Given the description of an element on the screen output the (x, y) to click on. 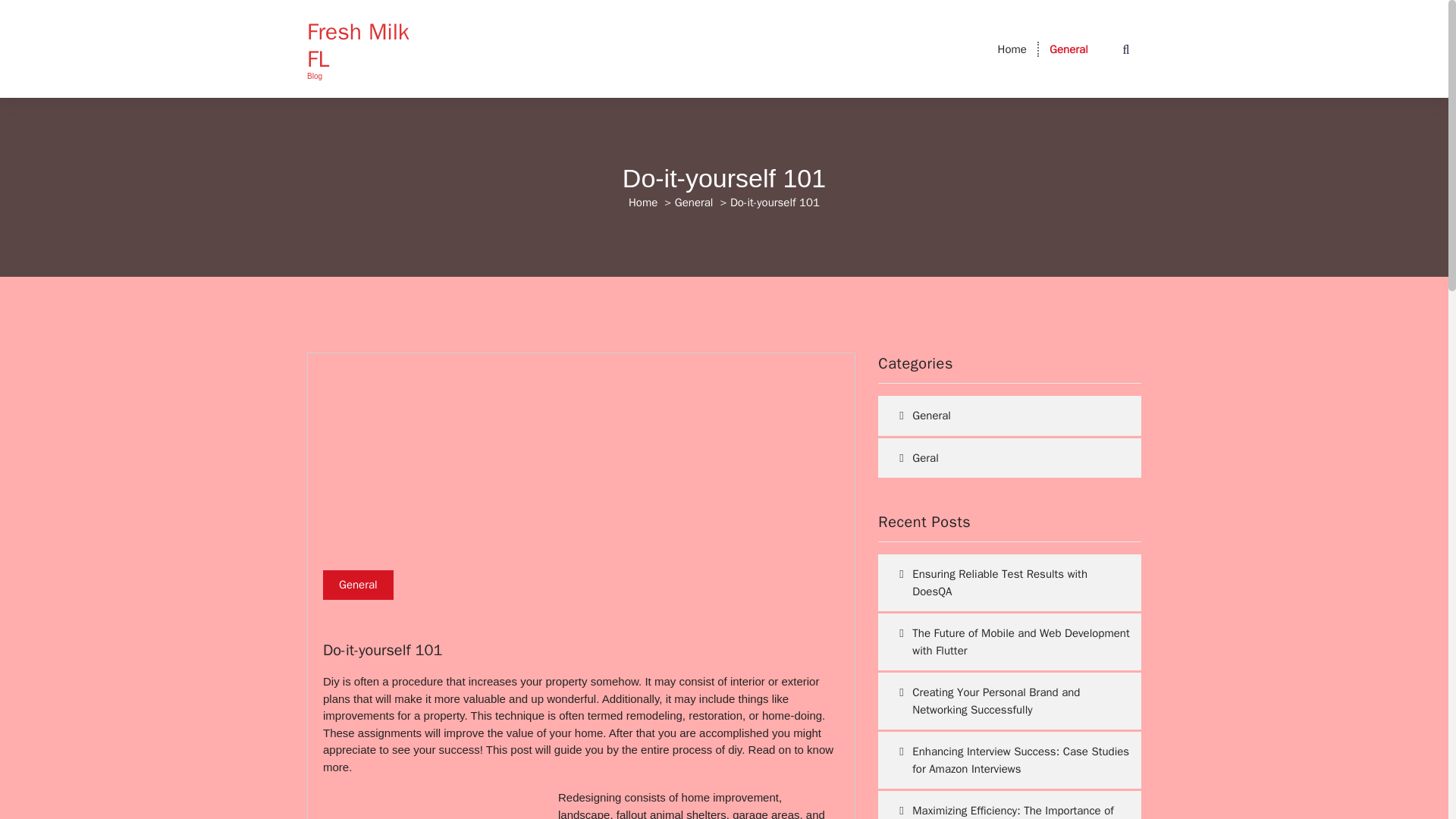
Home (1012, 49)
General (1003, 415)
Home (1012, 49)
General (694, 202)
General (1068, 49)
General (1068, 49)
Geral (1003, 458)
Home (643, 202)
Fresh Milk FL (366, 45)
